Given the description of an element on the screen output the (x, y) to click on. 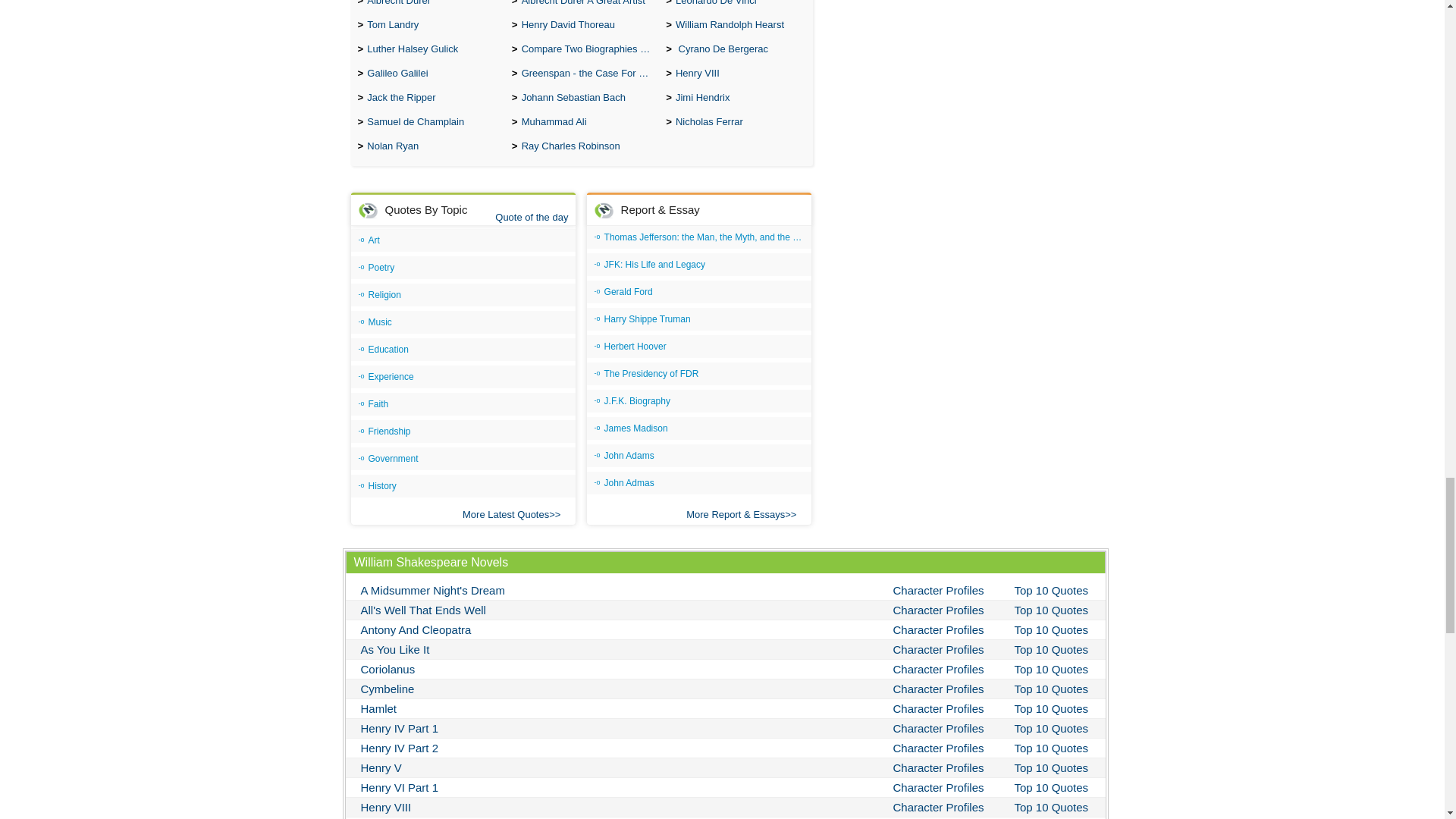
Quotes on Poet and Poetry (462, 268)
Quotes on Art and Showbiz (462, 240)
Quote of the day (531, 216)
